Given the description of an element on the screen output the (x, y) to click on. 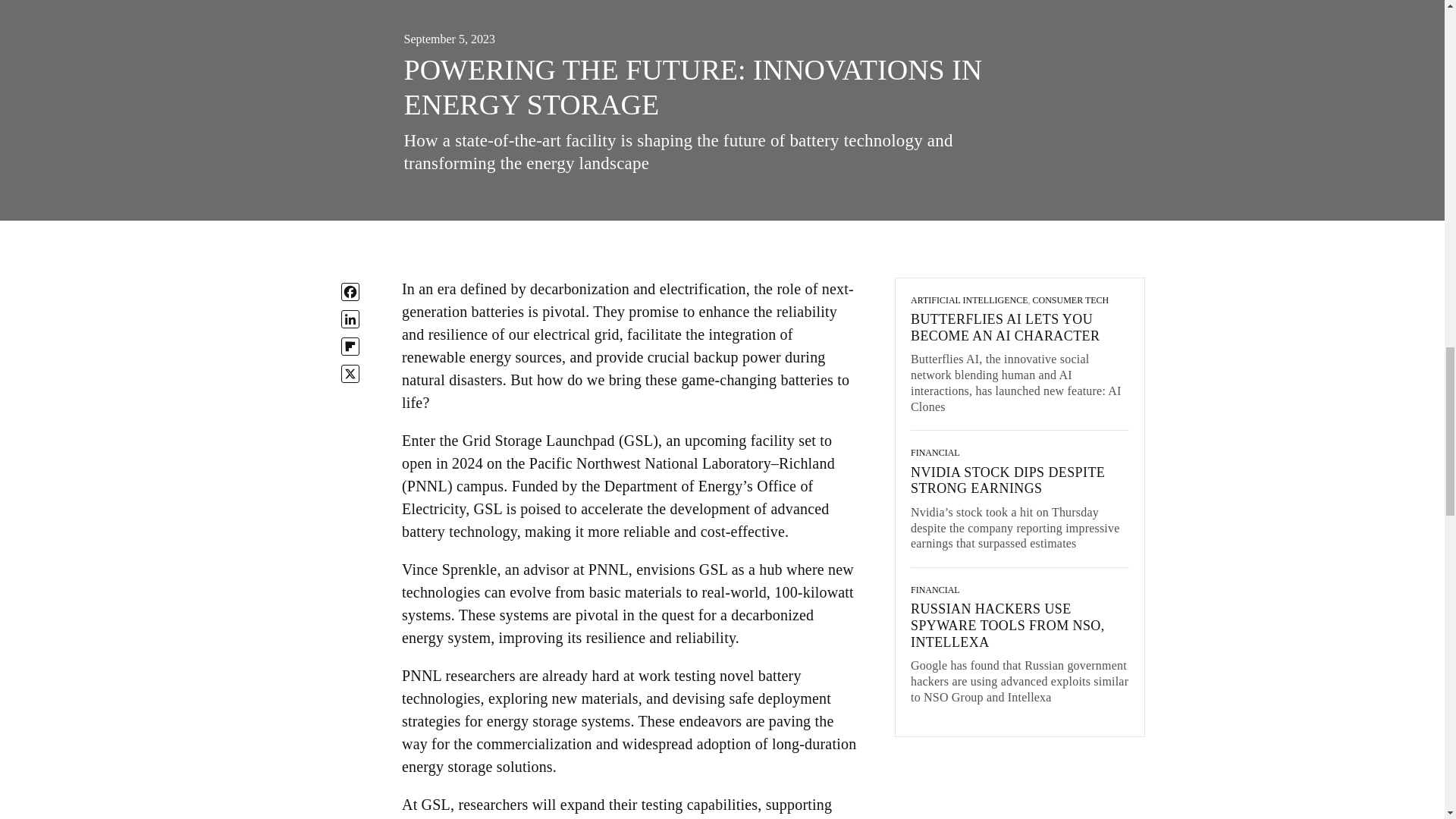
X (349, 373)
Linkedin (349, 319)
Flipboard (349, 346)
Facebook (349, 291)
